Given the description of an element on the screen output the (x, y) to click on. 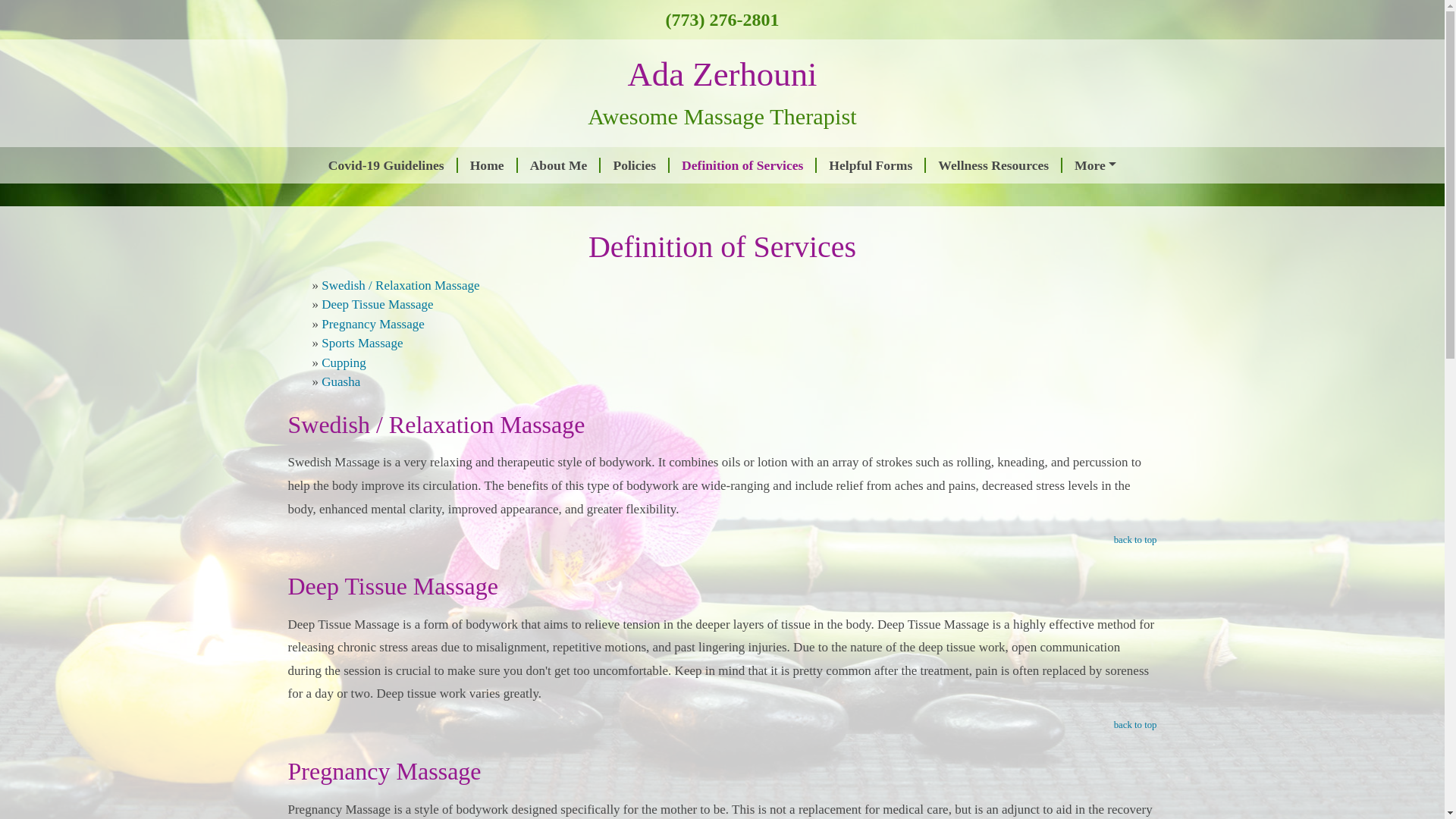
Cupping (343, 362)
About Me (559, 164)
back to top (1135, 724)
Wellness Resources (994, 164)
Policies (634, 164)
Covid-19 Guidelines (386, 164)
Definition of Services (742, 164)
back to top (1135, 539)
Helpful Forms (871, 164)
Guasha (340, 381)
More (1095, 164)
Deep Tissue Massage (376, 304)
Pregnancy Massage (373, 323)
Sports Massage (362, 342)
Home (488, 164)
